Given the description of an element on the screen output the (x, y) to click on. 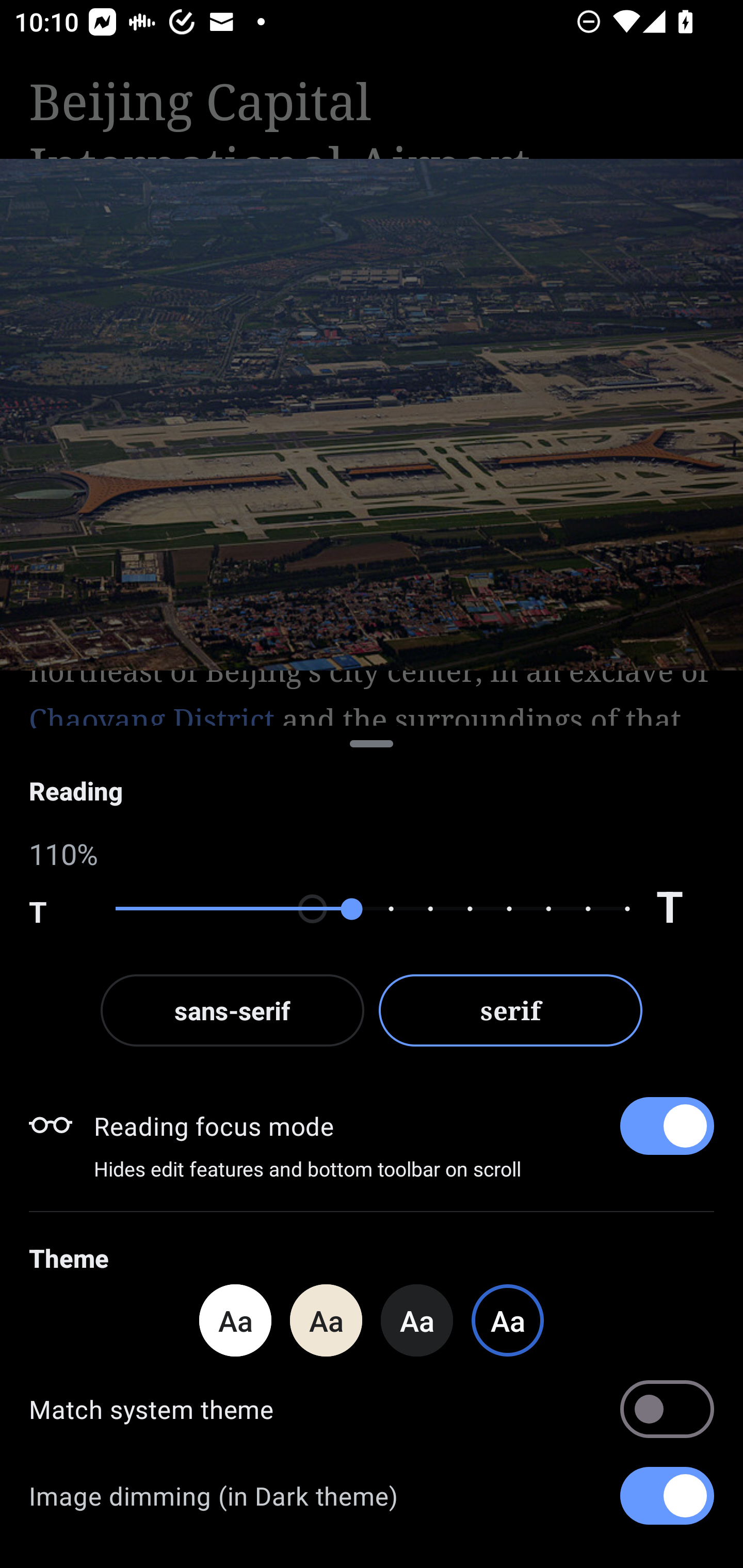
T Decrease text size (57, 909)
T Increase text size (685, 909)
sans-serif (232, 1010)
serif (510, 1010)
Reading focus mode (403, 1125)
Aa (235, 1320)
Aa (325, 1320)
Aa (416, 1320)
Match system theme (371, 1408)
Image dimming (in Dark theme) (371, 1495)
